Given the description of an element on the screen output the (x, y) to click on. 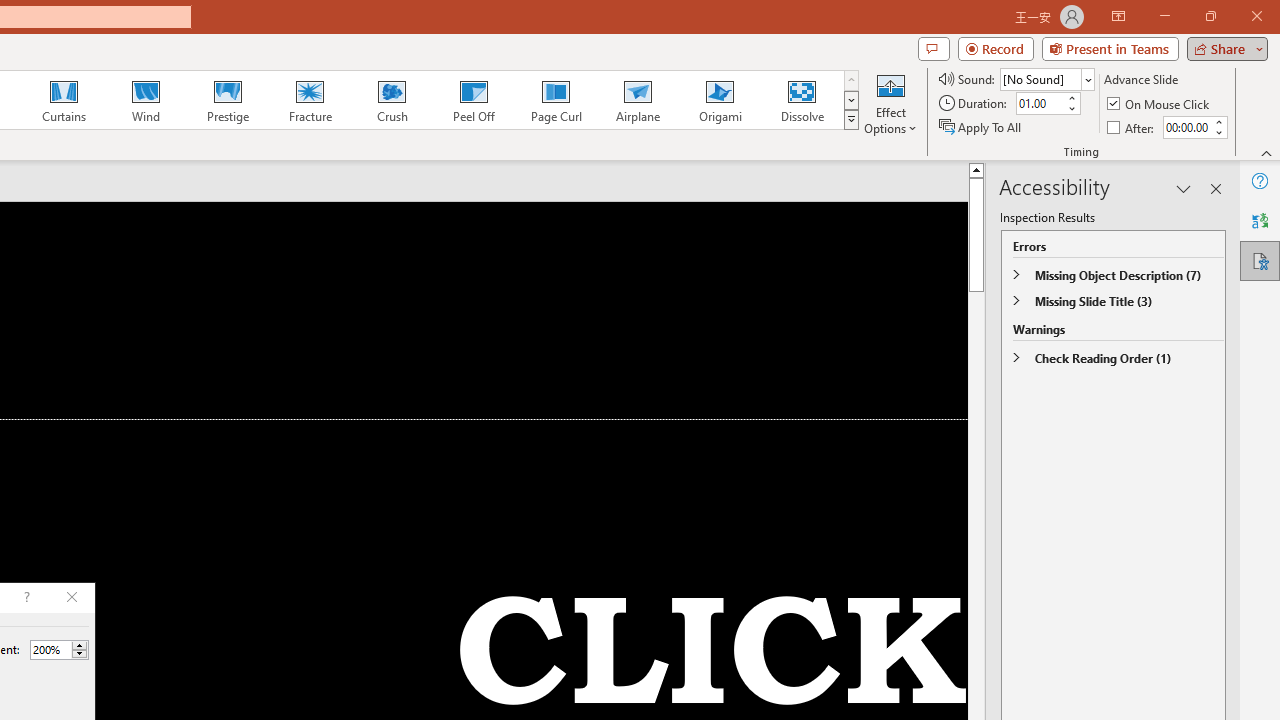
Wind (145, 100)
Prestige (227, 100)
Context help (25, 597)
Transition Effects (850, 120)
Peel Off (473, 100)
Percent (50, 649)
Fracture (309, 100)
Curtains (63, 100)
